Given the description of an element on the screen output the (x, y) to click on. 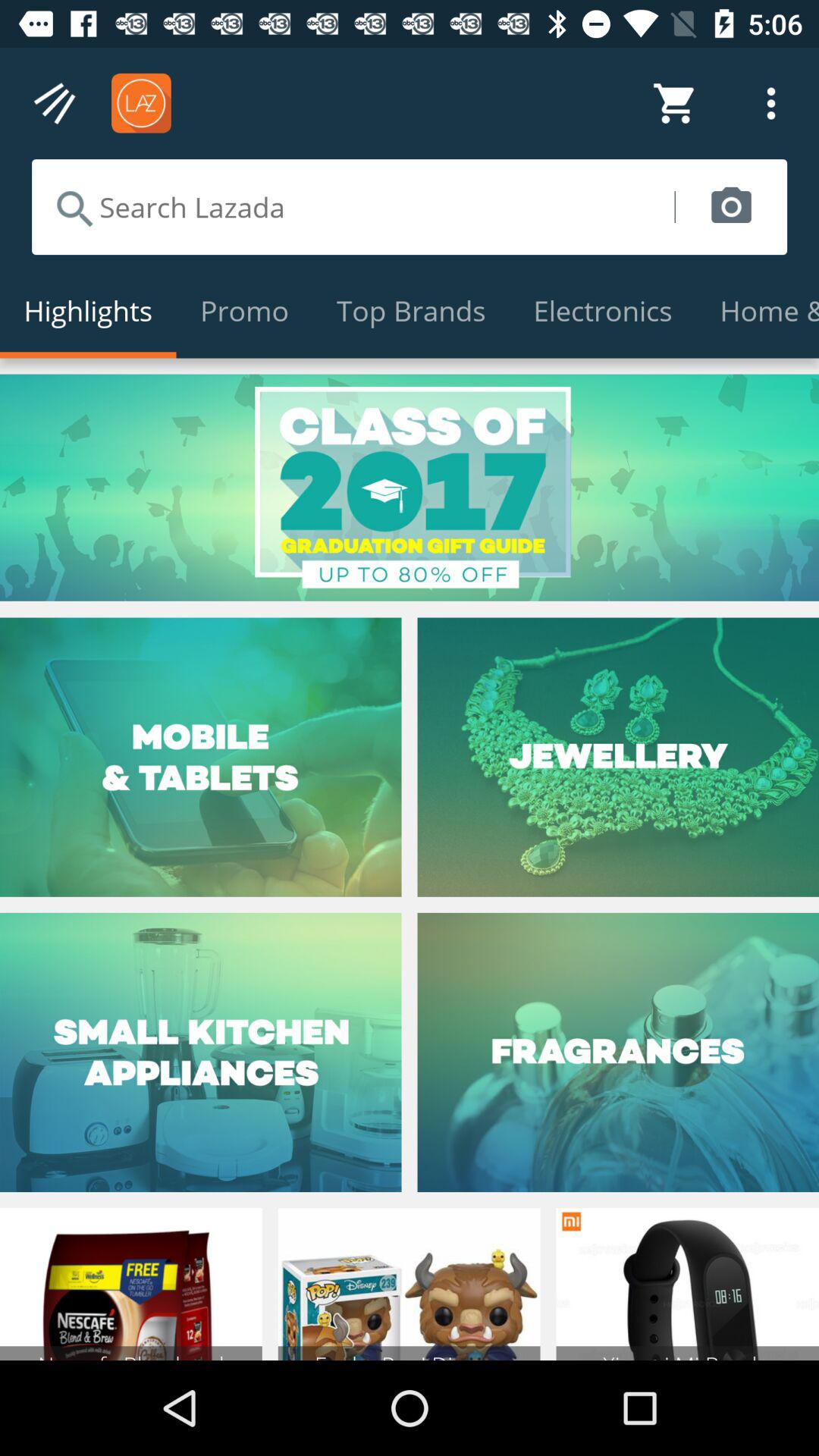
upload photo (731, 206)
